Given the description of an element on the screen output the (x, y) to click on. 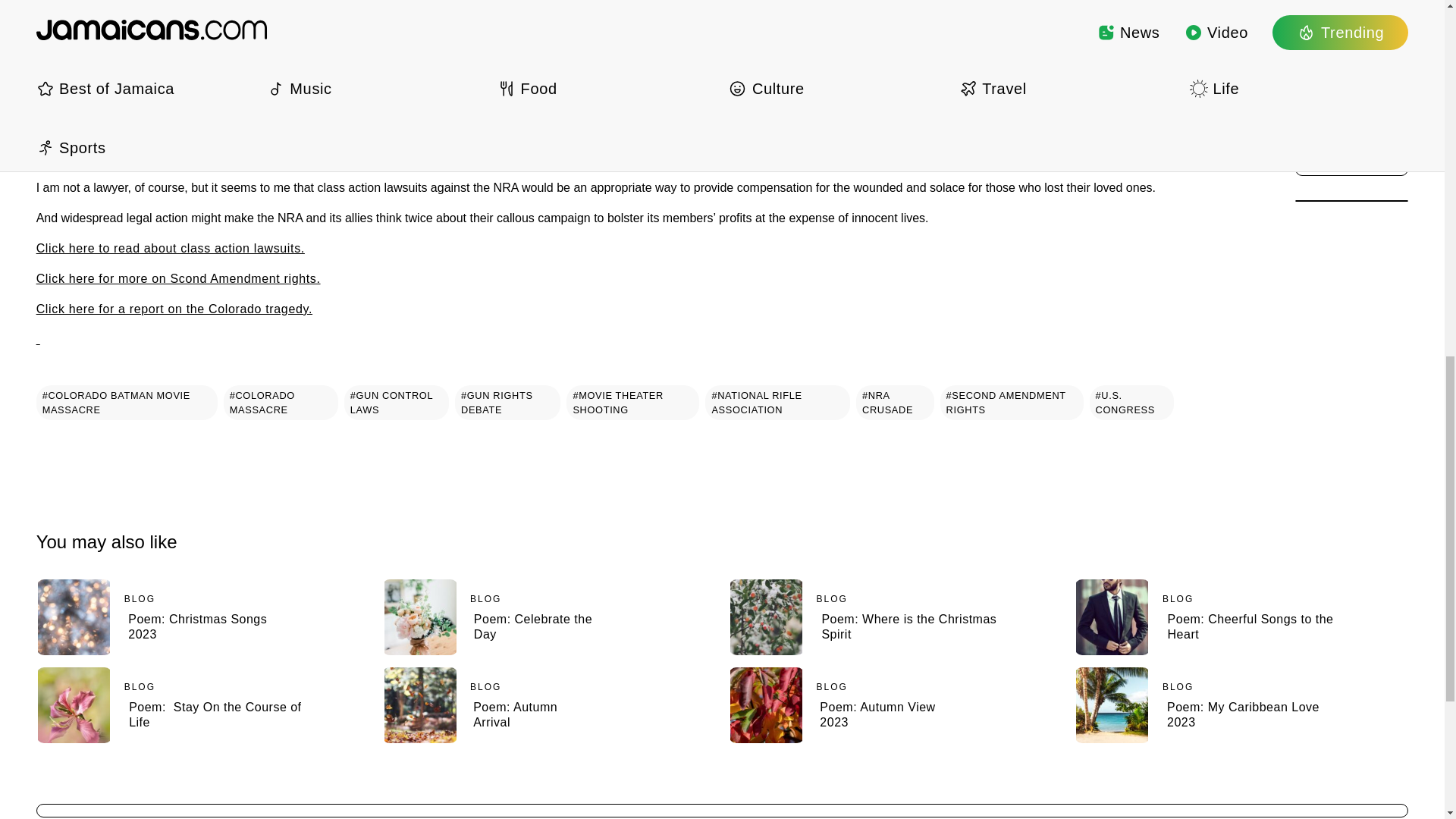
Click here to read about class action lawsuits. (170, 247)
Click here for more on Scond Amendment rights. (178, 278)
